Given the description of an element on the screen output the (x, y) to click on. 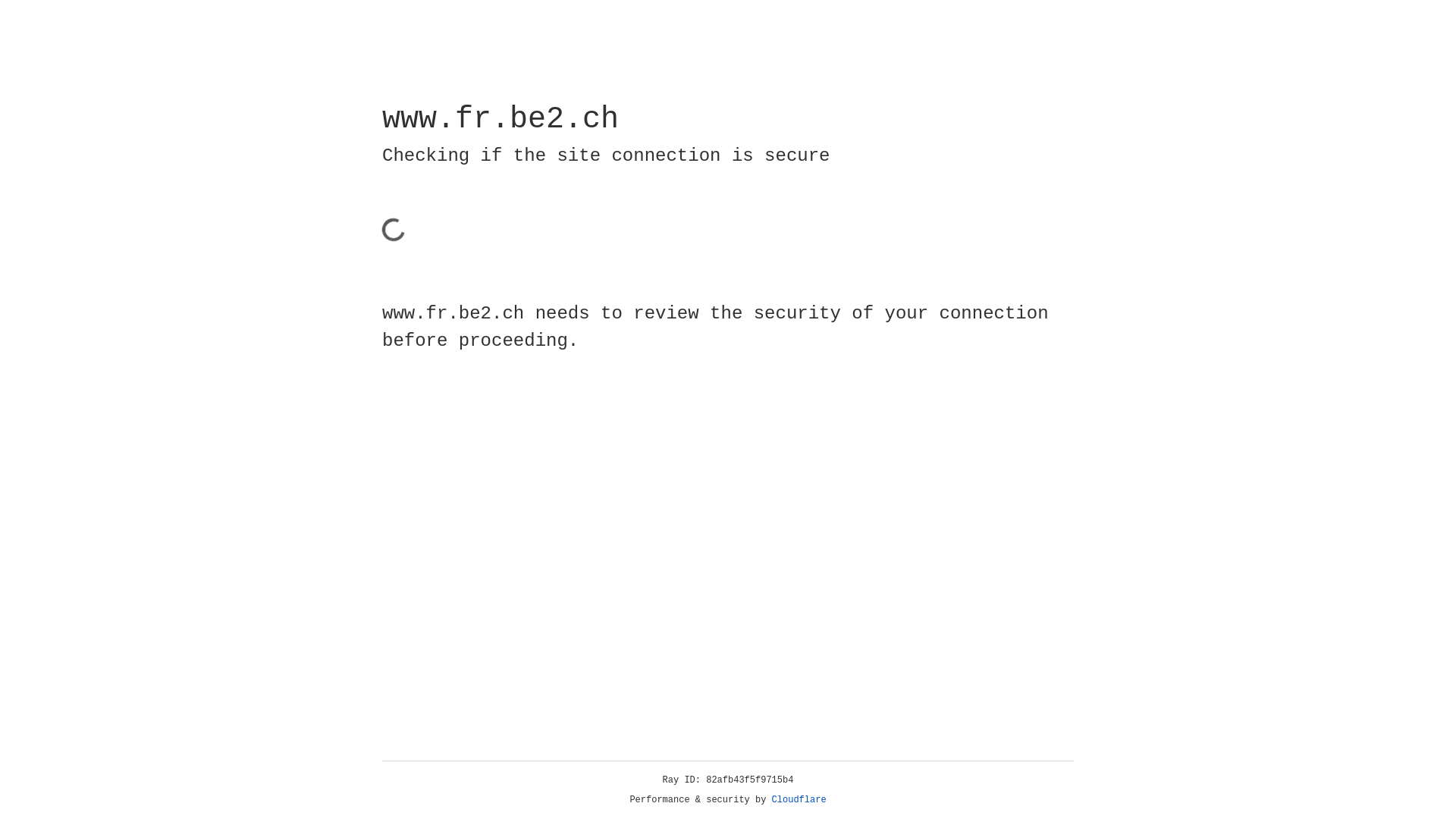
Cloudflare Element type: text (798, 799)
